Given the description of an element on the screen output the (x, y) to click on. 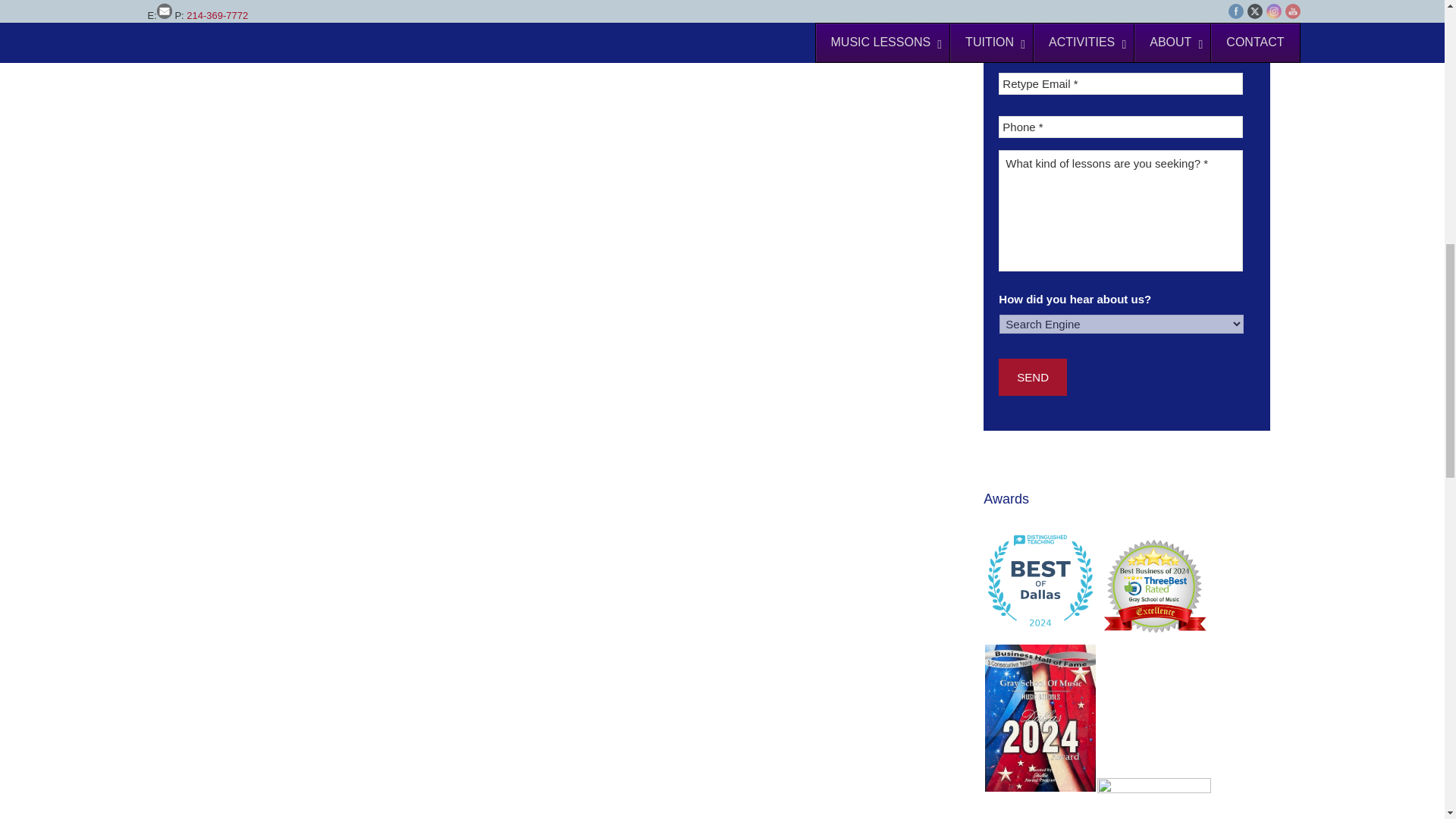
Guitar Lessons (398, 13)
Voice Lessons (812, 13)
Send (1032, 376)
Send (1032, 376)
Piano Lessons (256, 13)
Drum Lessons (675, 13)
Violin Lessons (537, 13)
